Given the description of an element on the screen output the (x, y) to click on. 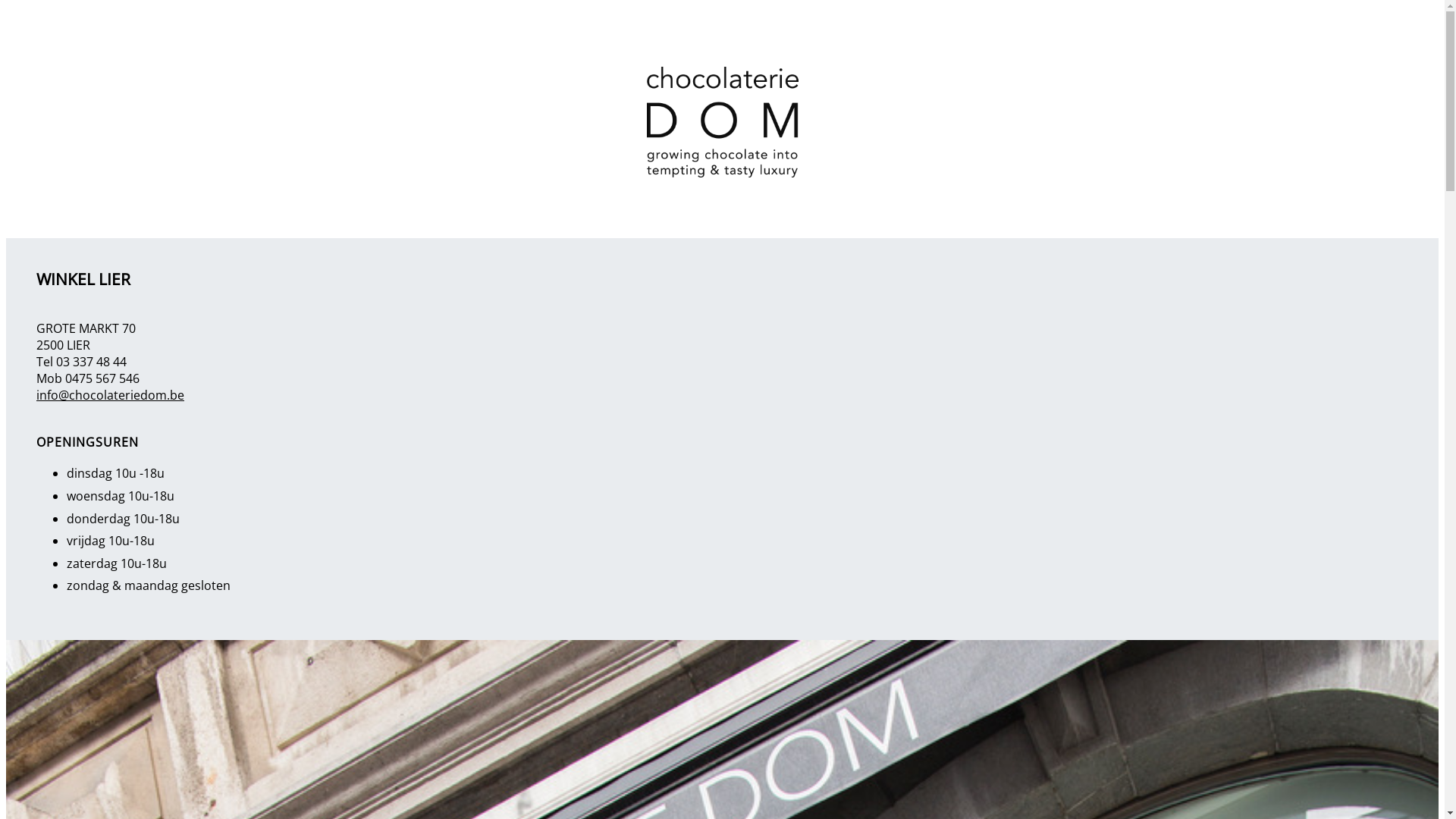
info@chocolateriedom.be Element type: text (110, 394)
